Given the description of an element on the screen output the (x, y) to click on. 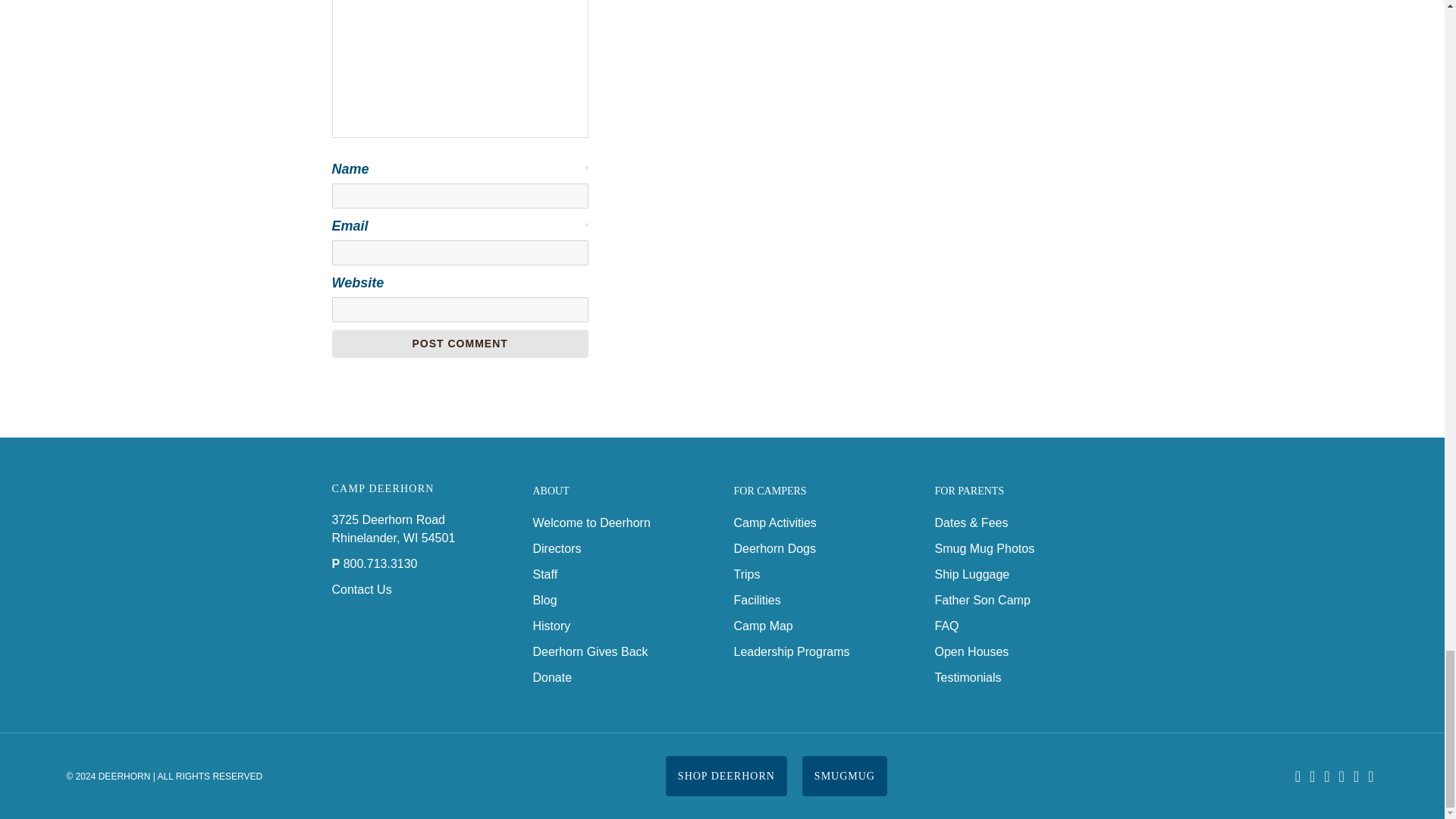
Post Comment (459, 343)
